Given the description of an element on the screen output the (x, y) to click on. 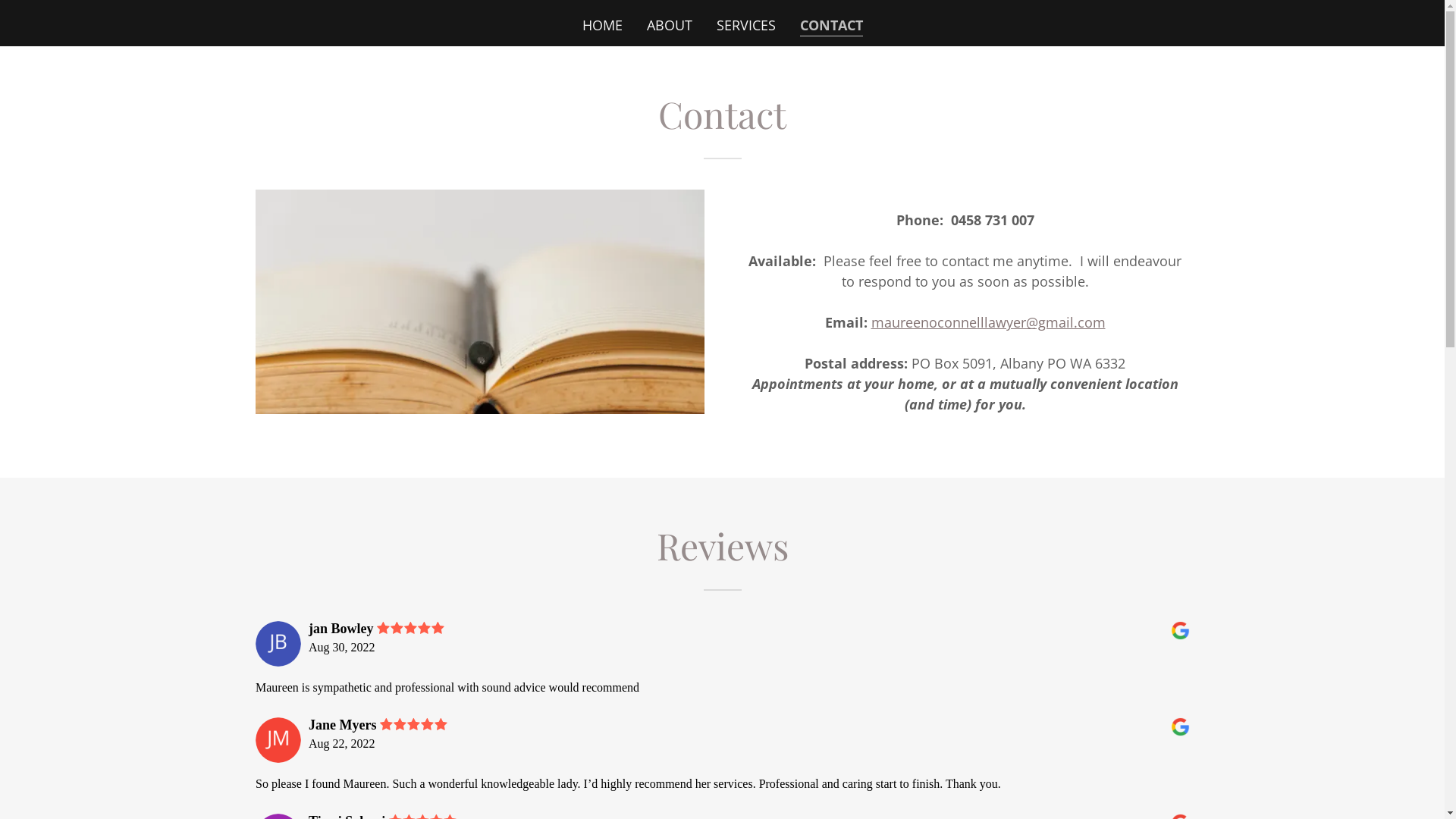
ABOUT Element type: text (668, 24)
SERVICES Element type: text (745, 24)
HOME Element type: text (602, 24)
maureenoconnelllawyer@gmail.com Element type: text (987, 322)
CONTACT Element type: text (830, 25)
